Given the description of an element on the screen output the (x, y) to click on. 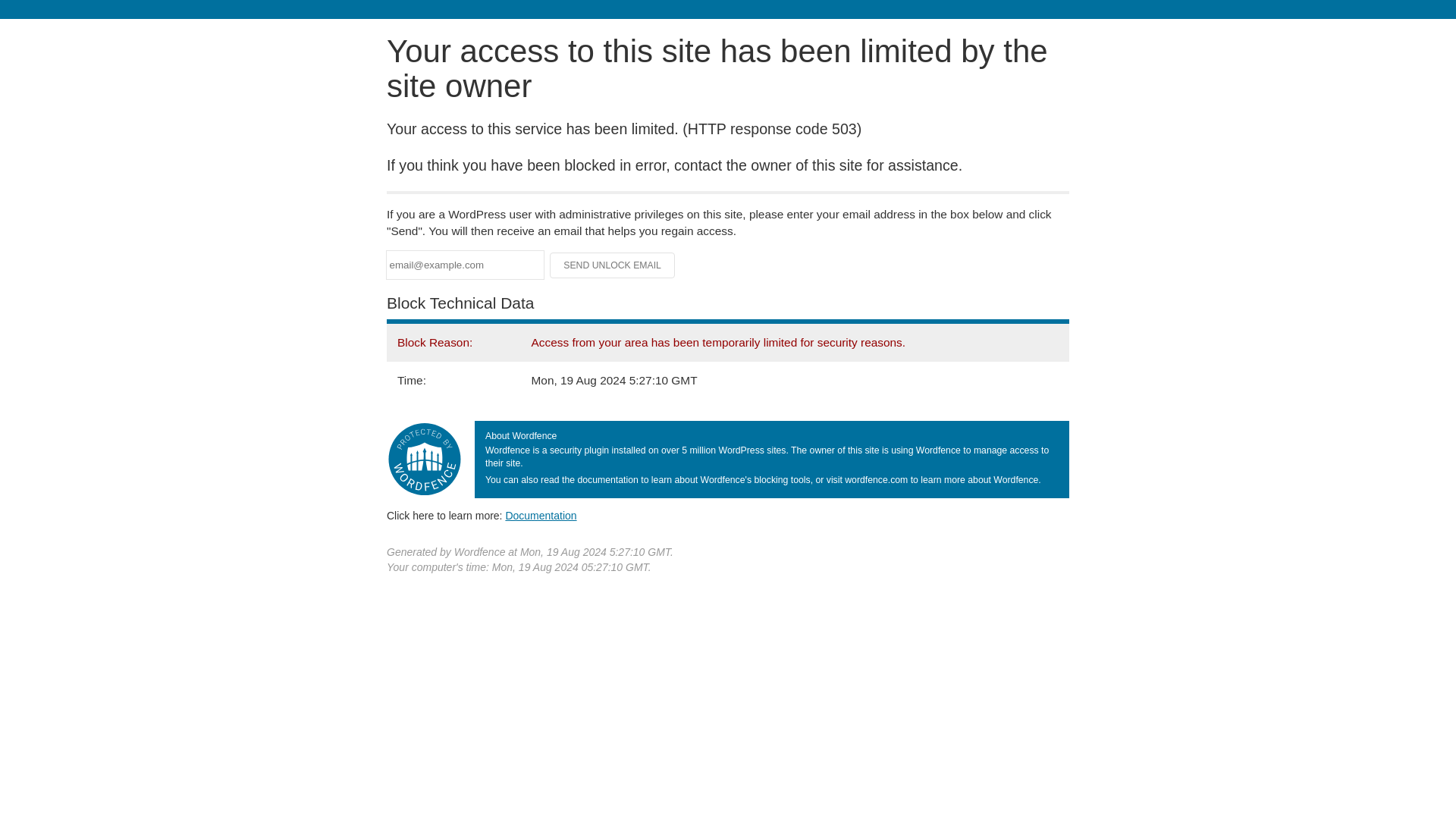
Send Unlock Email (612, 265)
Send Unlock Email (612, 265)
Documentation (540, 515)
